Given the description of an element on the screen output the (x, y) to click on. 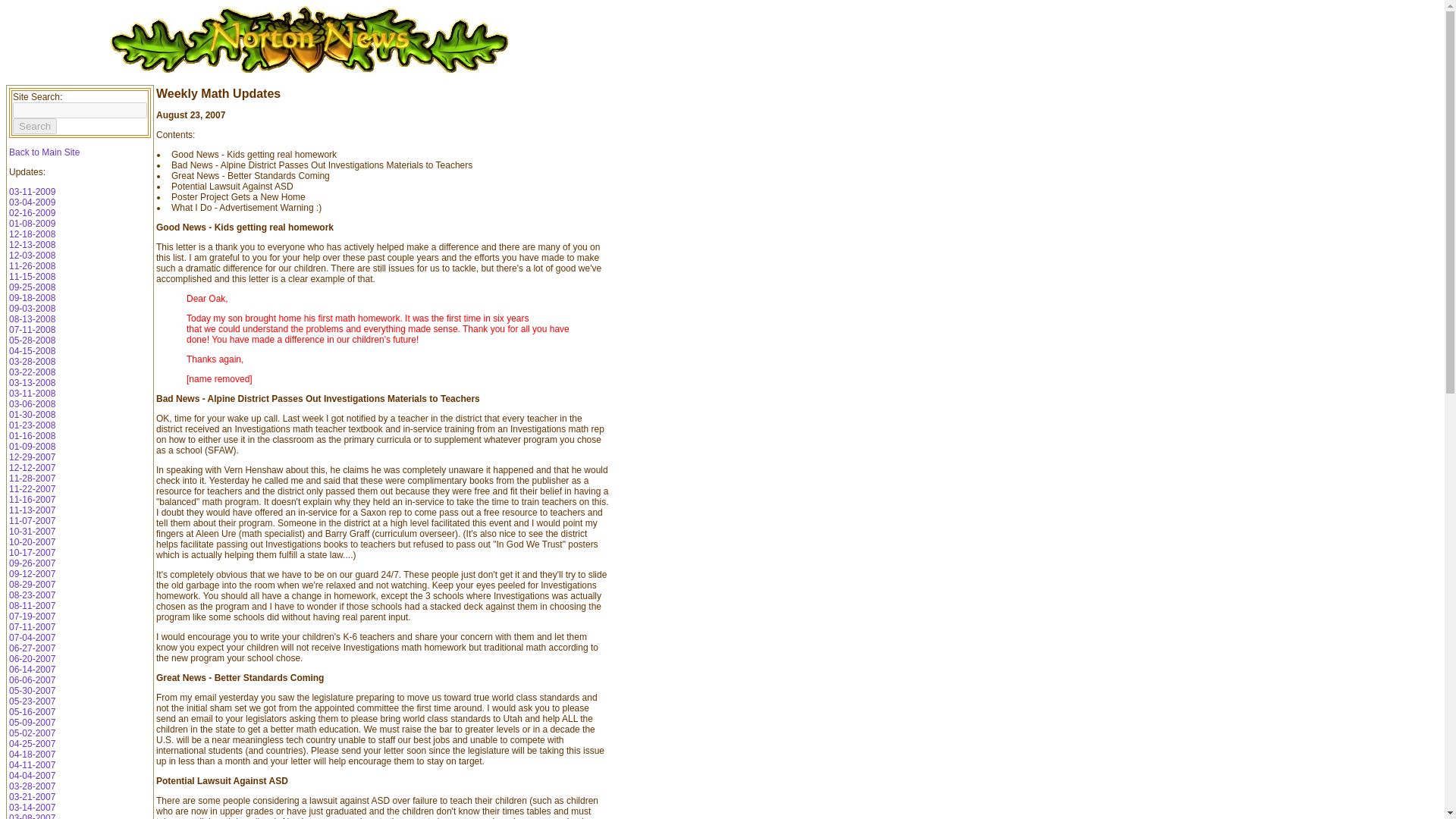
03-22-2008 (31, 371)
11-07-2007 (31, 520)
03-11-2008 (31, 393)
09-03-2008 (31, 308)
09-25-2008 (31, 286)
11-16-2007 (31, 499)
09-12-2007 (31, 573)
03-13-2008 (31, 382)
11-15-2008 (31, 276)
10-17-2007 (31, 552)
12-18-2008 (31, 234)
12-13-2008 (31, 244)
02-16-2009 (31, 213)
03-06-2008 (31, 403)
11-28-2007 (31, 478)
